Given the description of an element on the screen output the (x, y) to click on. 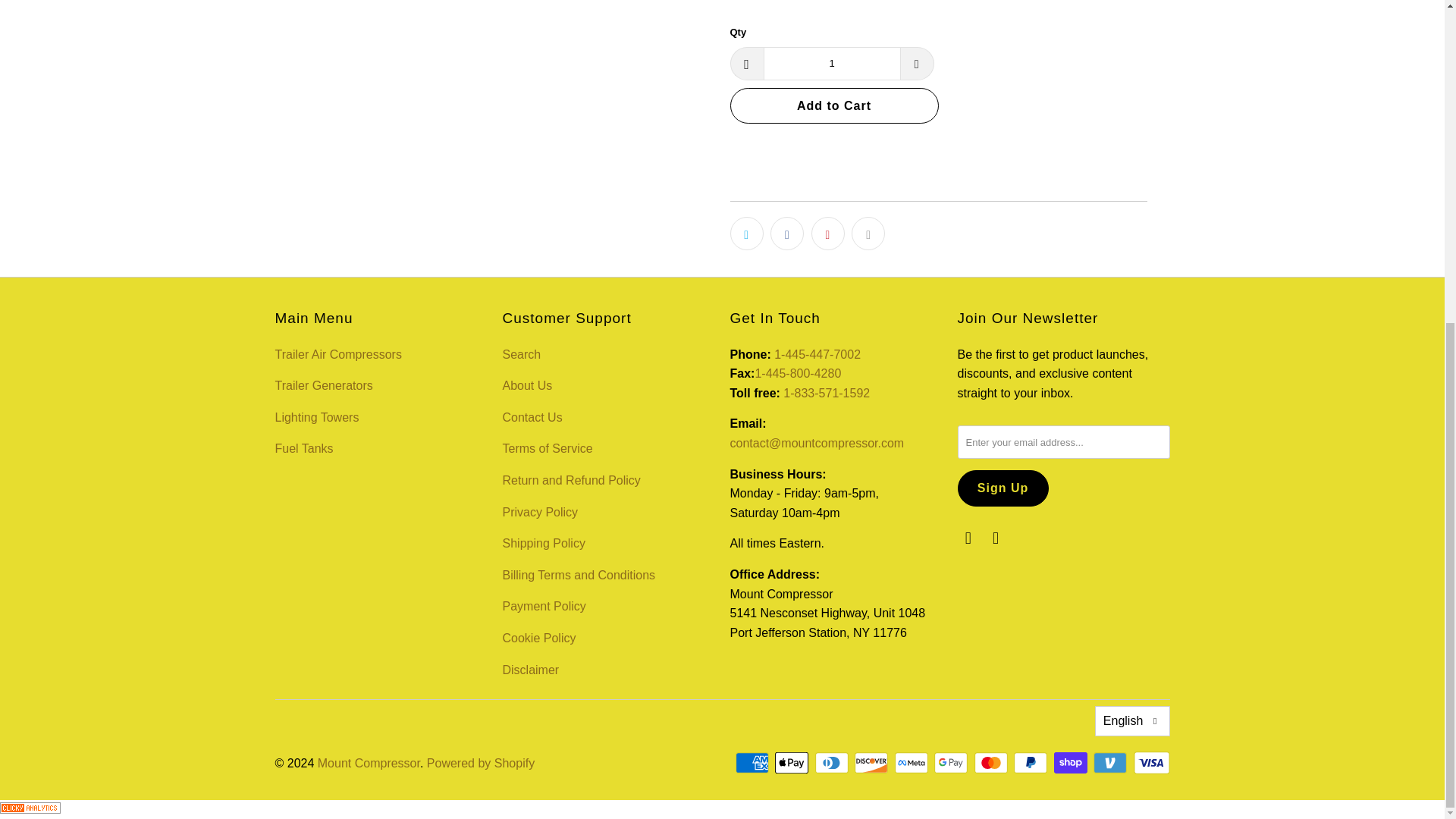
Venmo (1111, 762)
tel:1-445-447-7002 (817, 354)
Diners Club (833, 762)
Email this to a friend (868, 233)
Mount Compressor on Twitter (996, 538)
Google Pay (952, 762)
tel:1-445-800-4280 (797, 373)
Share this on Pinterest (827, 233)
Mount Compressor on Instagram (967, 538)
1 (830, 63)
